Given the description of an element on the screen output the (x, y) to click on. 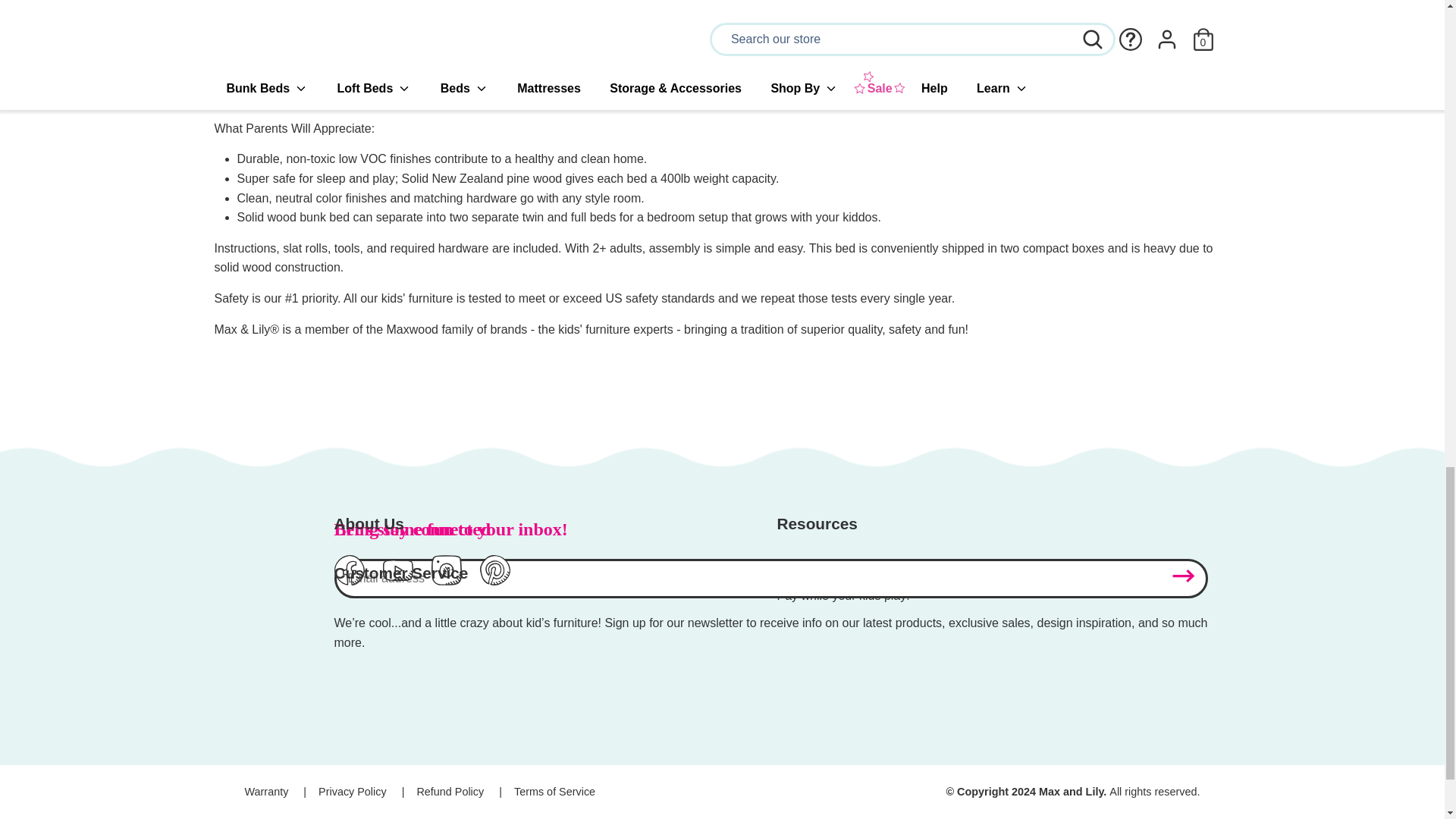
Pinterest (494, 581)
Youtube (396, 581)
Facebook (348, 581)
Instagram (445, 581)
